Given the description of an element on the screen output the (x, y) to click on. 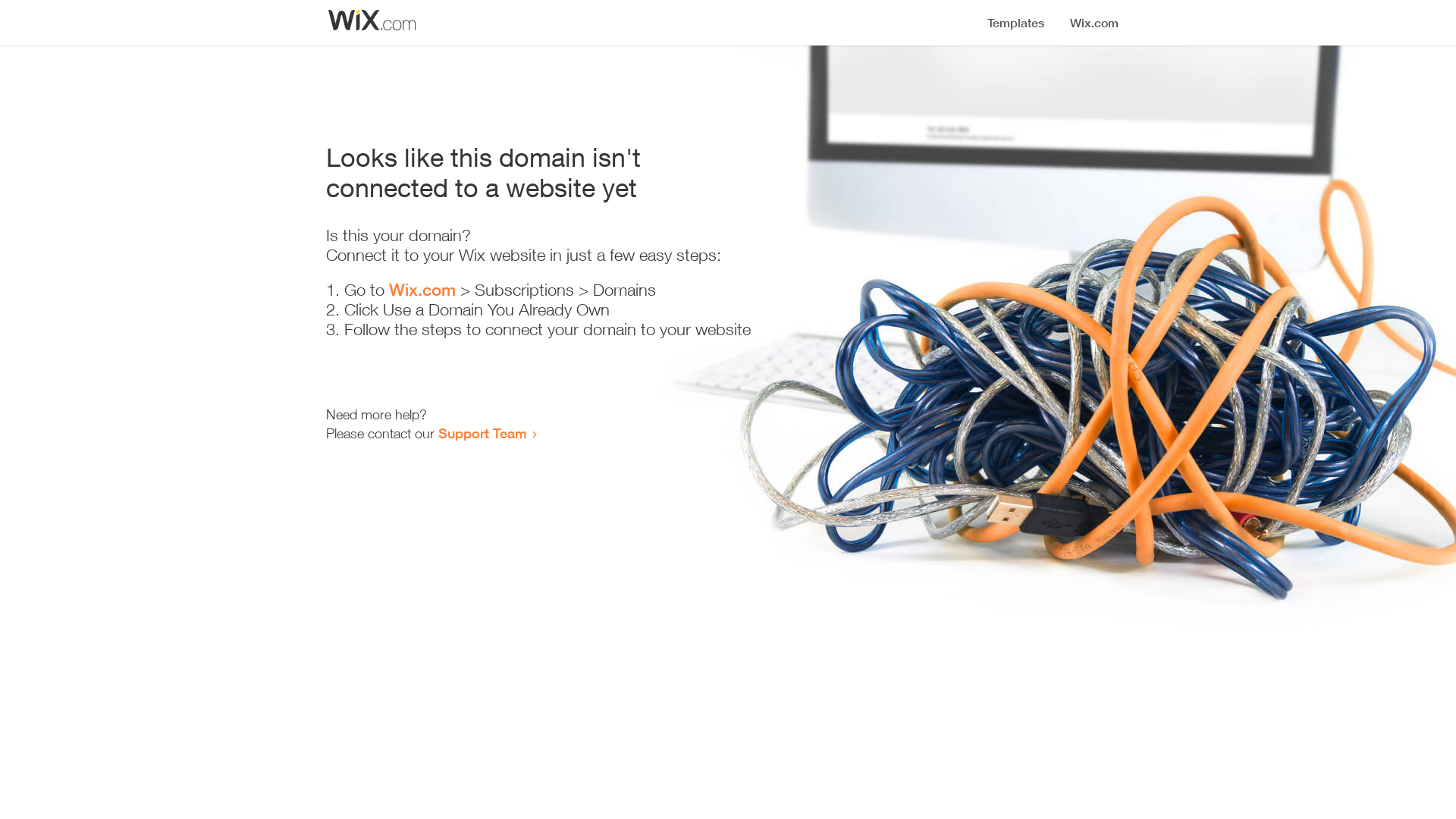
Wix.com Element type: text (422, 289)
Support Team Element type: text (482, 432)
